Given the description of an element on the screen output the (x, y) to click on. 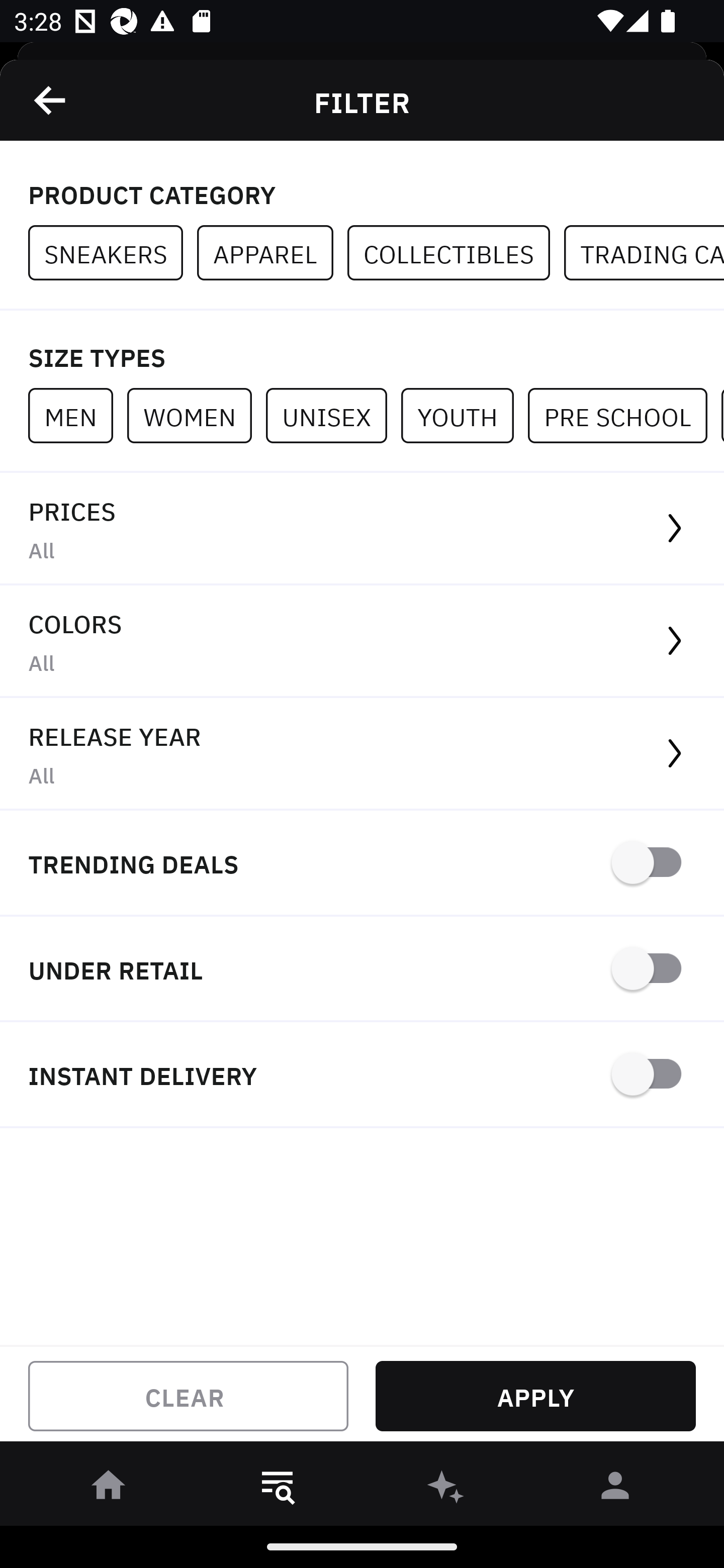
 (50, 100)
SNEAKERS (112, 252)
APPAREL (271, 252)
COLLECTIBLES (455, 252)
TRADING CARDS (643, 252)
MEN (77, 415)
WOMEN (196, 415)
UNISEX (333, 415)
YOUTH (464, 415)
PRE SCHOOL (624, 415)
PRICES All (362, 528)
COLORS All (362, 640)
RELEASE YEAR All (362, 753)
TRENDING DEALS (362, 863)
UNDER RETAIL (362, 969)
INSTANT DELIVERY (362, 1075)
CLEAR  (188, 1396)
APPLY (535, 1396)
󰋜 (108, 1488)
󱎸 (277, 1488)
󰫢 (446, 1488)
󰀄 (615, 1488)
